Given the description of an element on the screen output the (x, y) to click on. 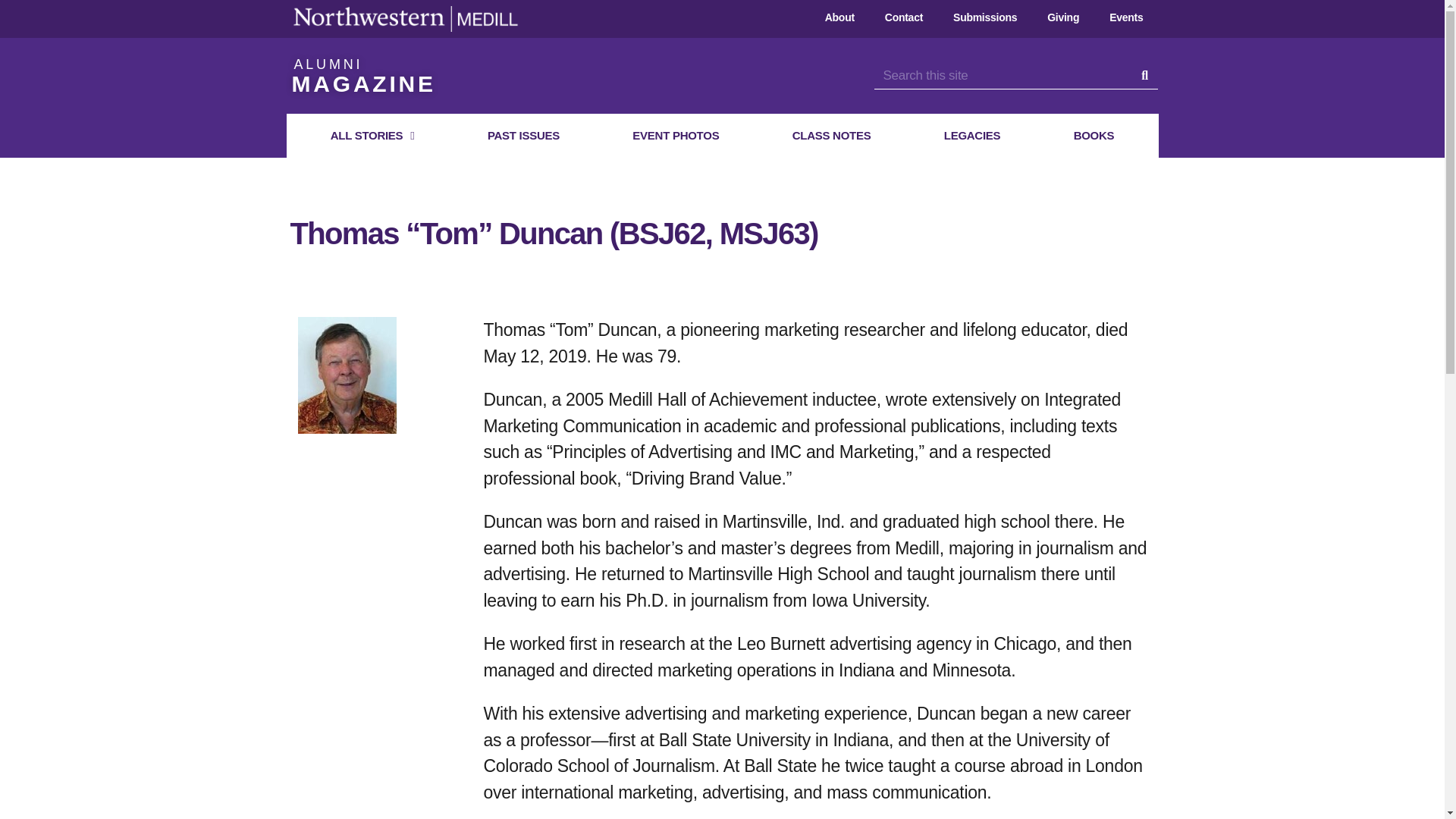
About (839, 17)
Contact (903, 17)
